Given the description of an element on the screen output the (x, y) to click on. 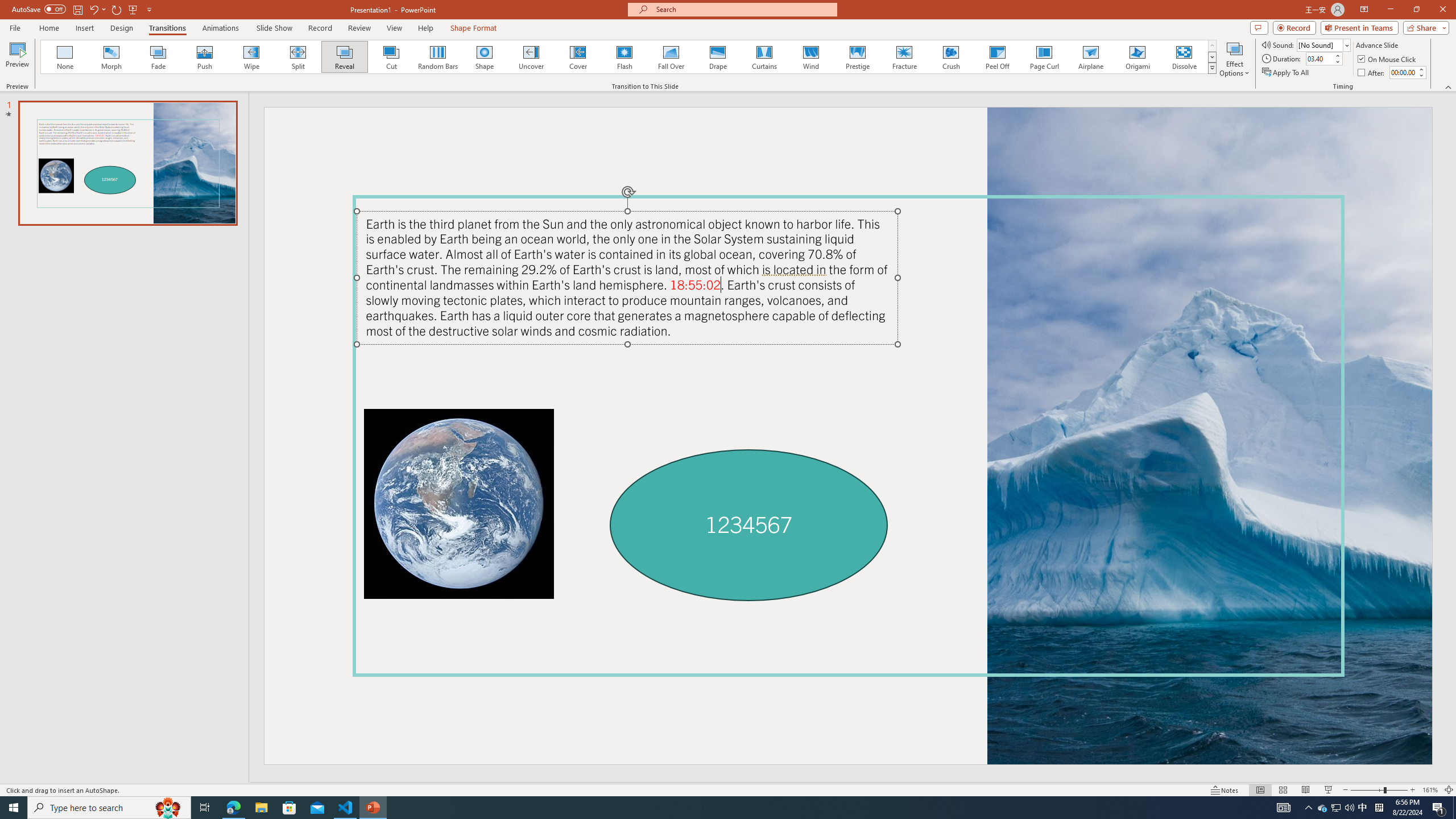
Duration (1319, 58)
Dissolve (1183, 56)
Sound (1324, 44)
Page Curl (1043, 56)
Wind (810, 56)
Cover (577, 56)
Random Bars (437, 56)
